Given the description of an element on the screen output the (x, y) to click on. 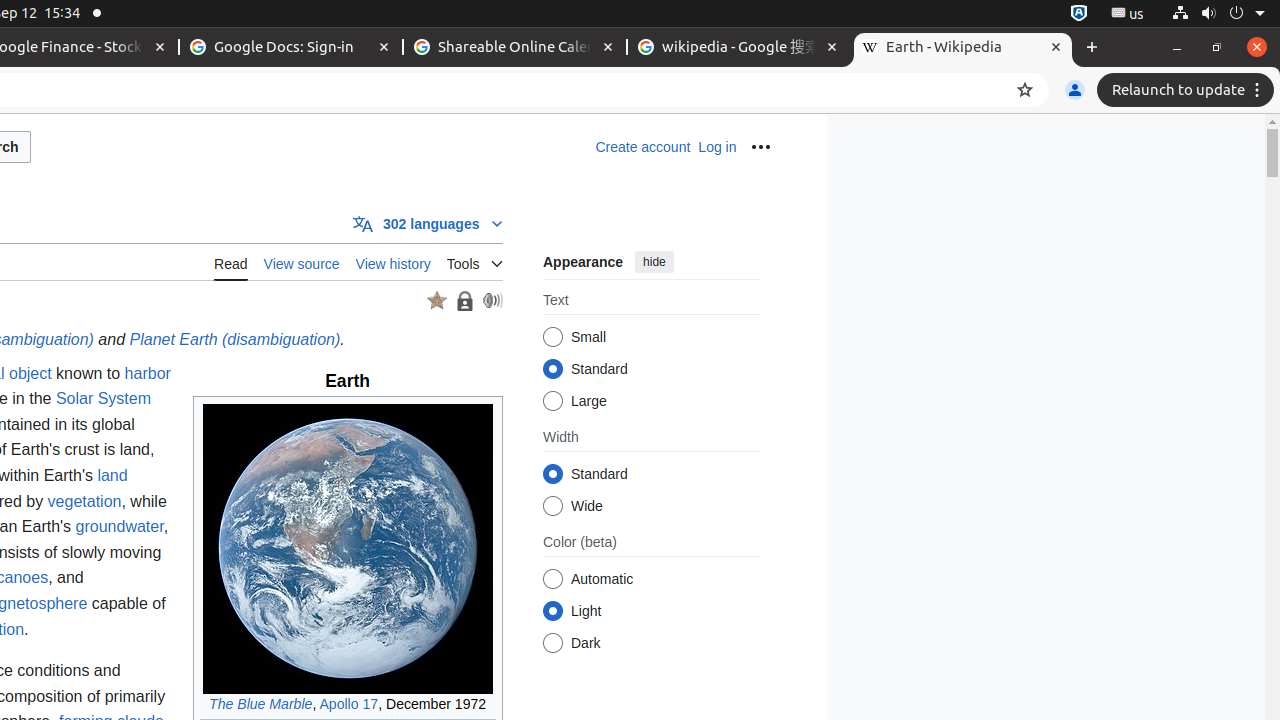
Standard Element type: radio-button (552, 474)
Bookmark this tab Element type: push-button (1025, 90)
Dark Element type: radio-button (552, 643)
Tools Element type: push-button (474, 260)
You Element type: push-button (1075, 90)
